Given the description of an element on the screen output the (x, y) to click on. 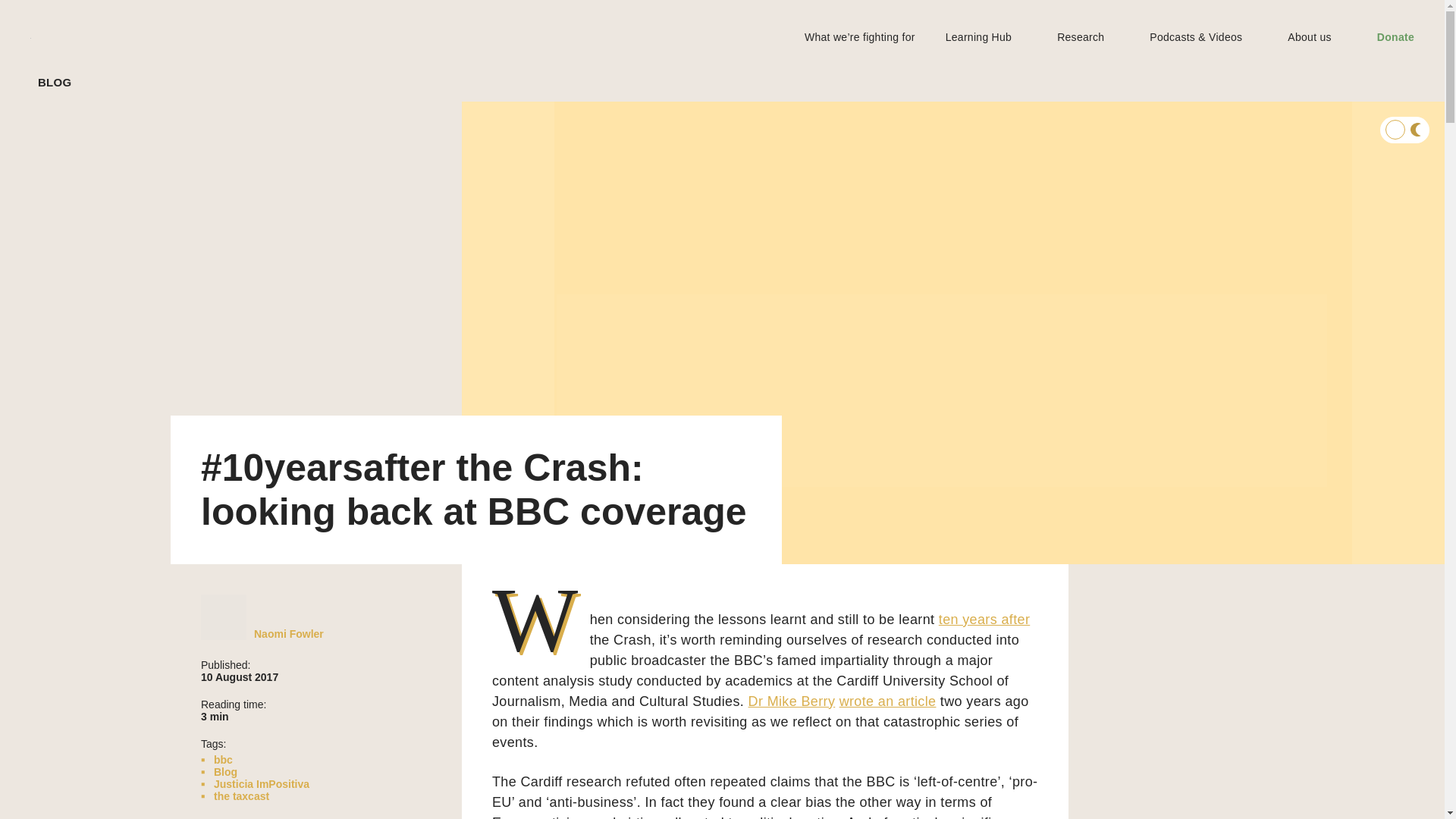
Research (1080, 36)
Learning Hub (977, 36)
Donate (1395, 36)
Justicia ImPositiva (261, 784)
the taxcast (241, 796)
bbc (223, 759)
Posts by Naomi Fowler (288, 633)
About us (1309, 36)
Naomi Fowler (288, 633)
Blog (225, 771)
